Given the description of an element on the screen output the (x, y) to click on. 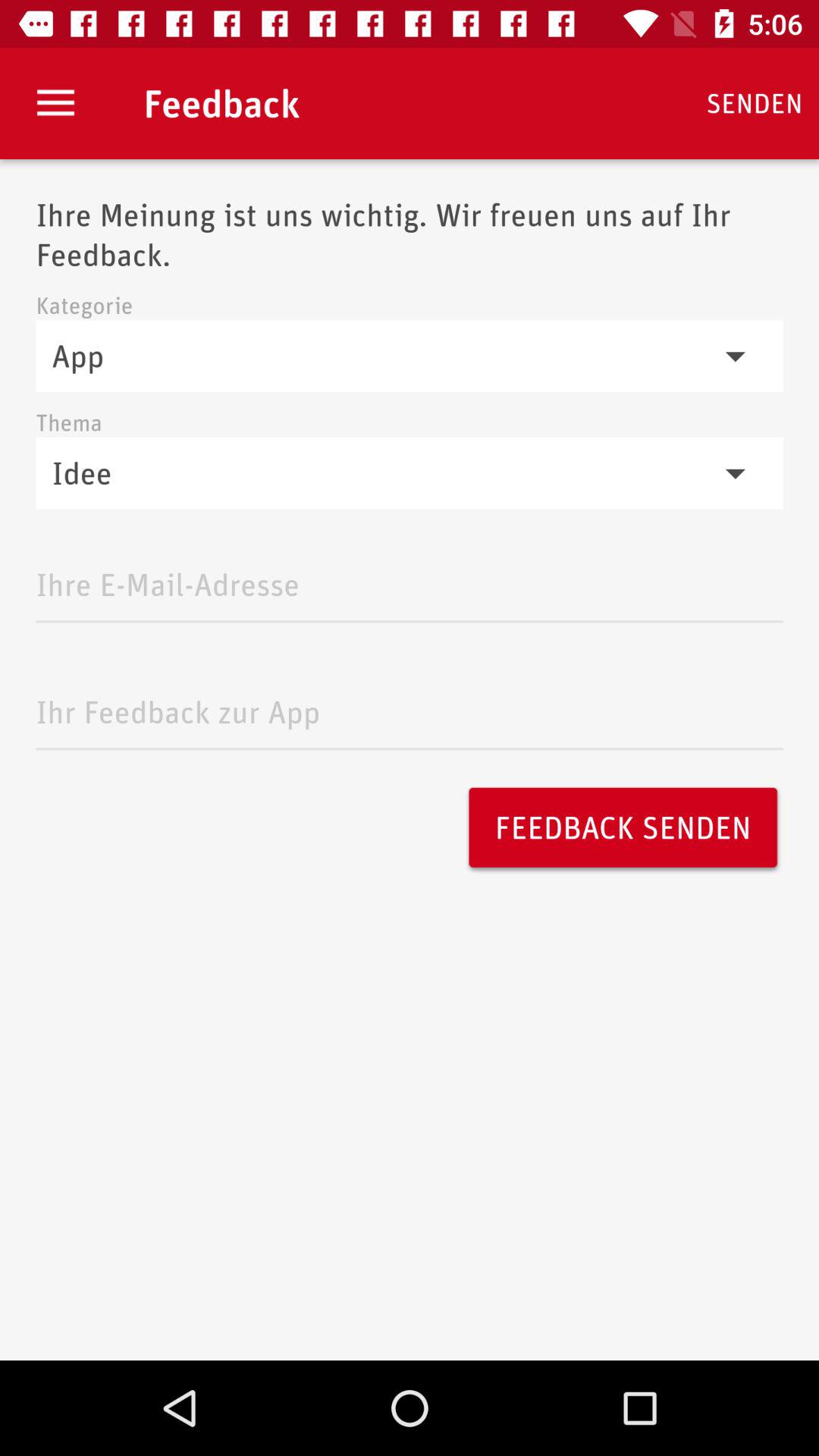
choose the icon next to feedback icon (55, 103)
